Given the description of an element on the screen output the (x, y) to click on. 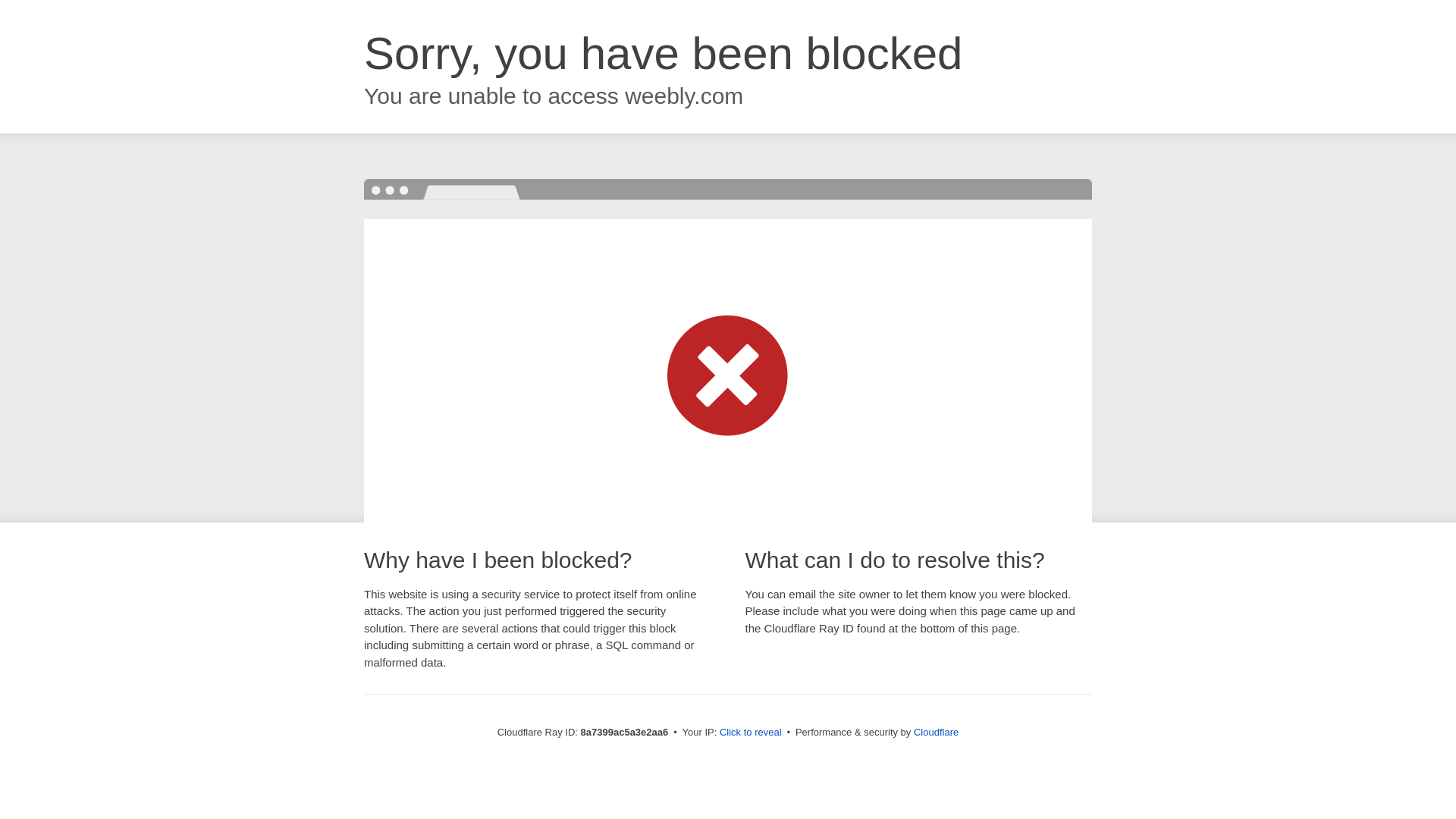
Cloudflare (936, 731)
Click to reveal (750, 732)
